Given the description of an element on the screen output the (x, y) to click on. 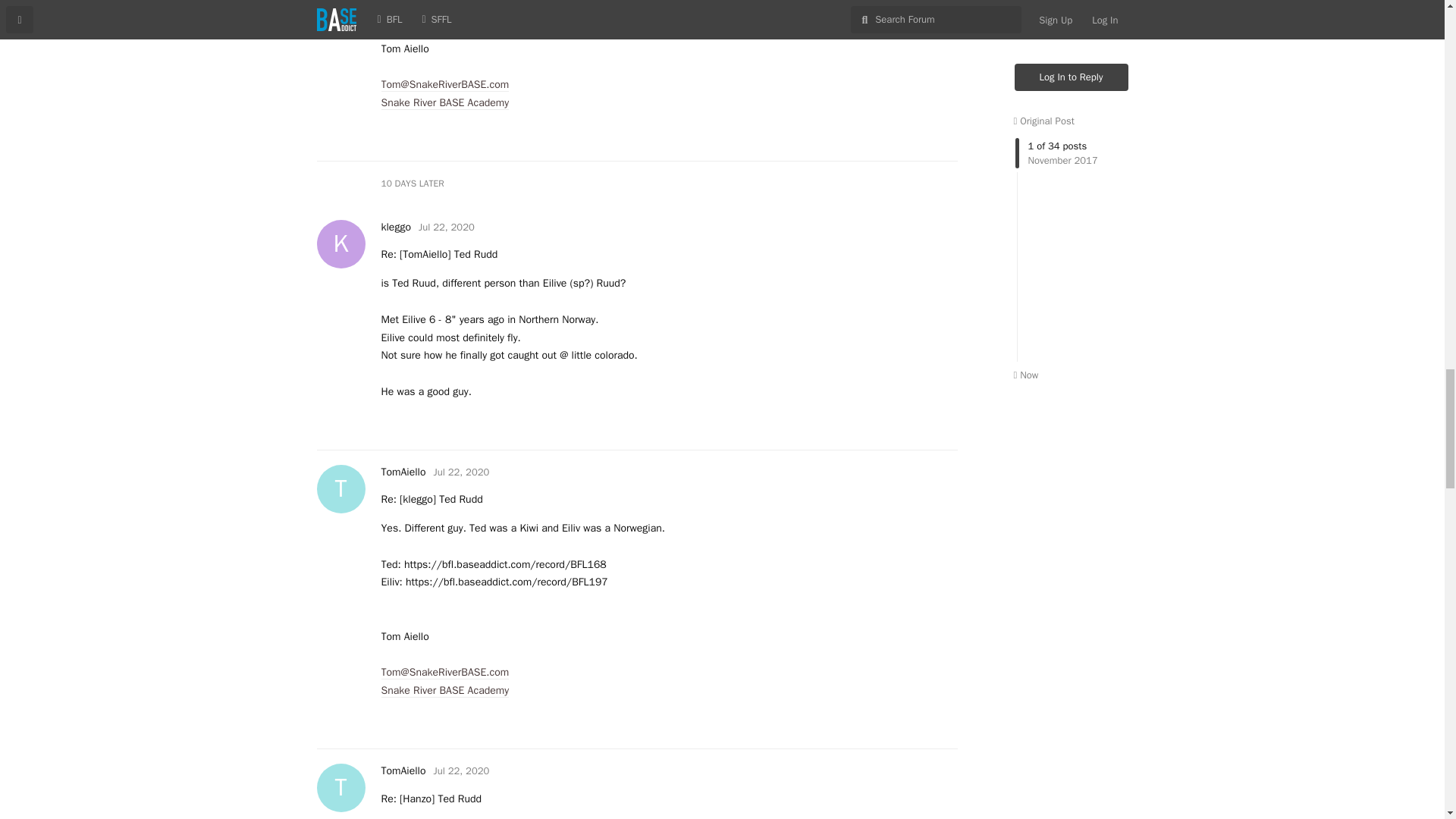
Wednesday, July 22, 2020 9:55 PM (461, 770)
Wednesday, July 22, 2020 9:40 PM (446, 226)
Wednesday, July 22, 2020 9:46 PM (461, 472)
